Given the description of an element on the screen output the (x, y) to click on. 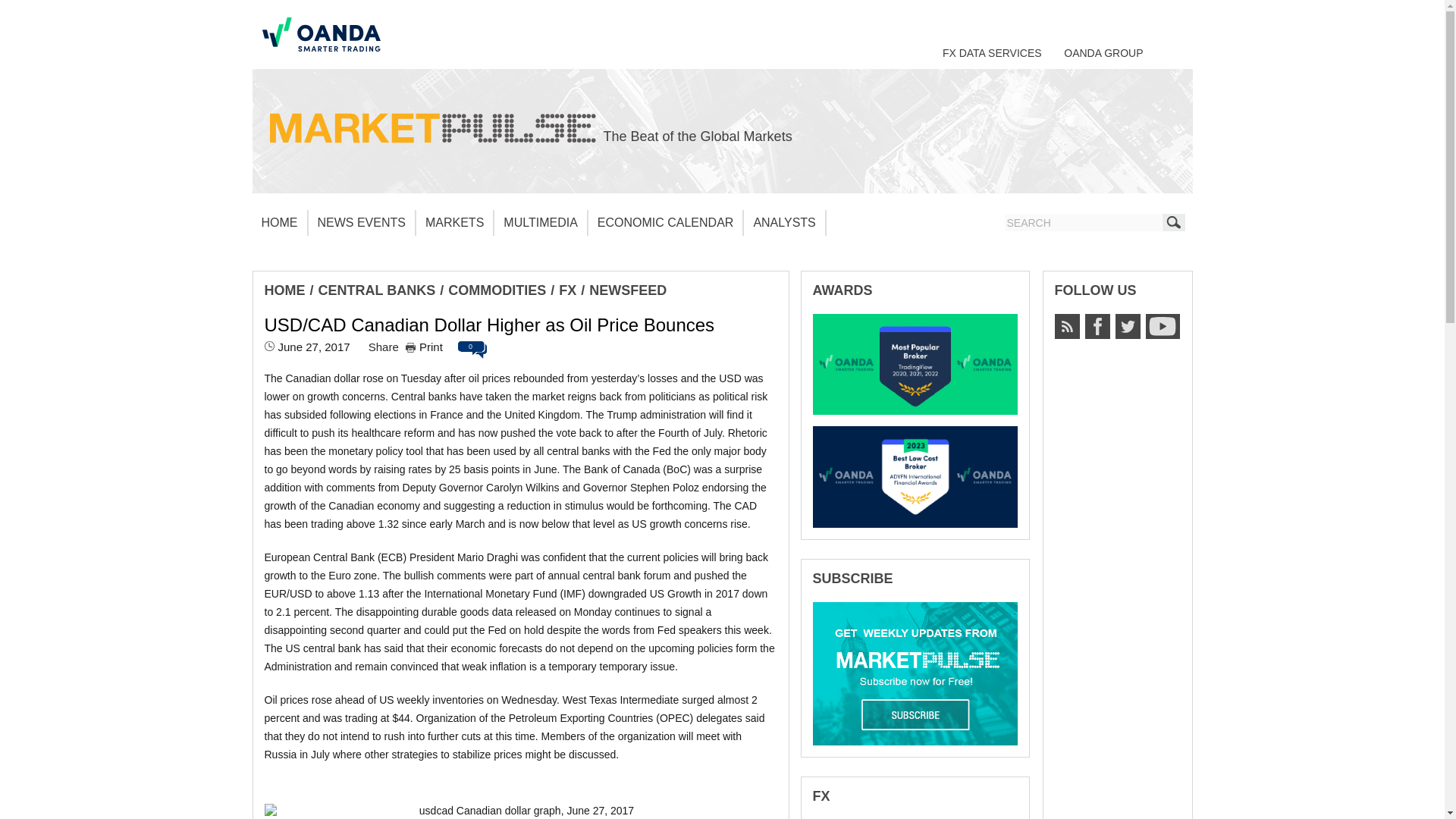
Facebook (1096, 326)
Share (383, 346)
Youtube (1161, 326)
FX (567, 290)
MULTIMEDIA (540, 222)
COMMODITIES (497, 290)
MARKETS (454, 222)
ANALYSTS (784, 222)
NEWS EVENTS (360, 222)
FX DATA SERVICES (992, 52)
OANDA GROUP (1103, 52)
CENTRAL BANKS (376, 290)
RSS (1066, 326)
Print (424, 346)
HOME (279, 222)
